Given the description of an element on the screen output the (x, y) to click on. 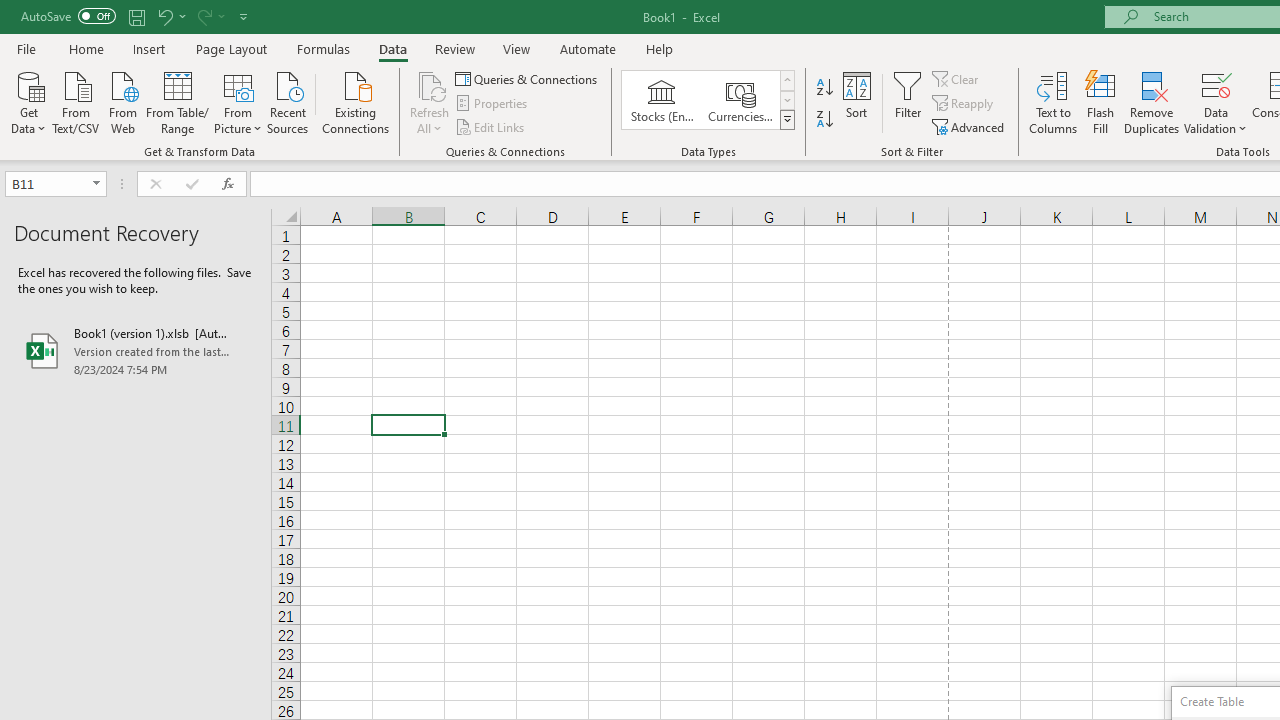
Flash Fill (1101, 102)
Sort A to Z (824, 87)
Advanced... (970, 126)
Filter (908, 102)
Existing Connections (355, 101)
Properties (492, 103)
Data Types (786, 120)
Currencies (English) (740, 100)
Edit Links (491, 126)
